Given the description of an element on the screen output the (x, y) to click on. 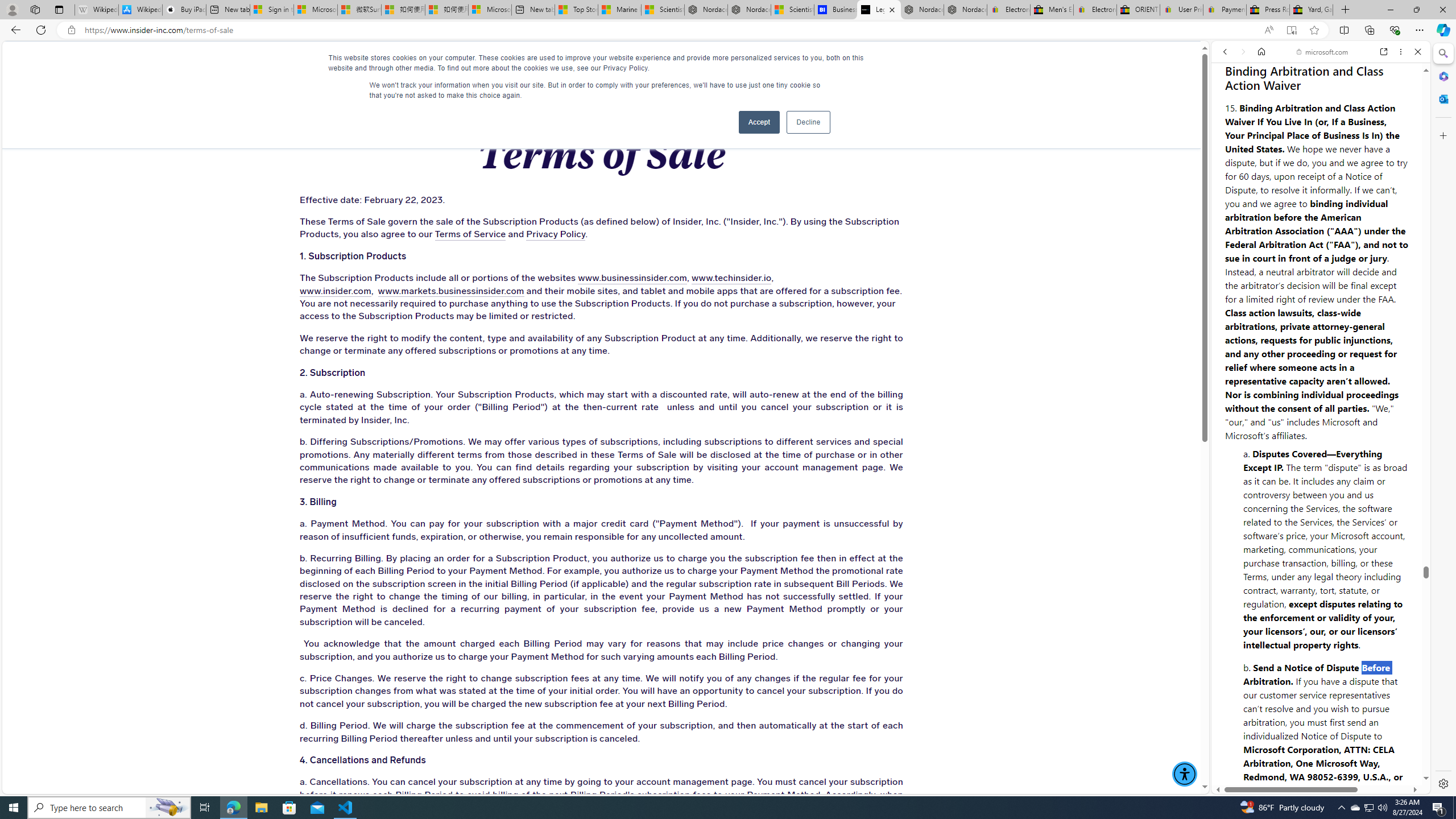
Accept (759, 121)
NEWS (730, 62)
Payments Terms of Use | eBay.com (1224, 9)
